Given the description of an element on the screen output the (x, y) to click on. 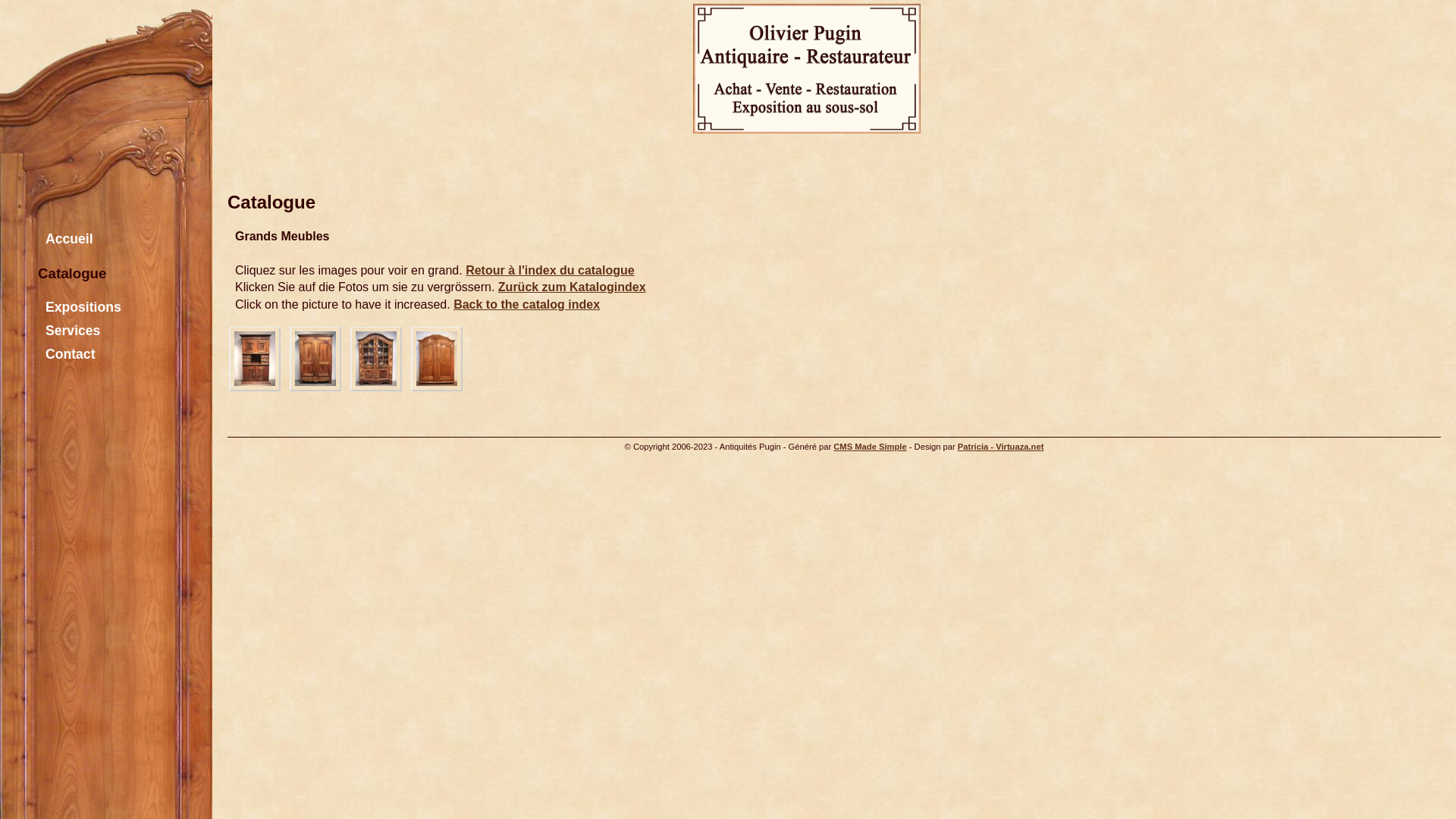
Expositions Element type: text (98, 307)
Patricia - Virtuaza.net Element type: text (1000, 446)
Services Element type: text (98, 330)
2379 Element type: hover (315, 358)
Contact Element type: text (98, 354)
Accueil Element type: text (98, 239)
CMS Made Simple Element type: text (869, 446)
Back to the catalog index Element type: text (526, 304)
2401 Element type: hover (436, 358)
2375 Element type: hover (254, 358)
2382 Element type: hover (375, 358)
